Given the description of an element on the screen output the (x, y) to click on. 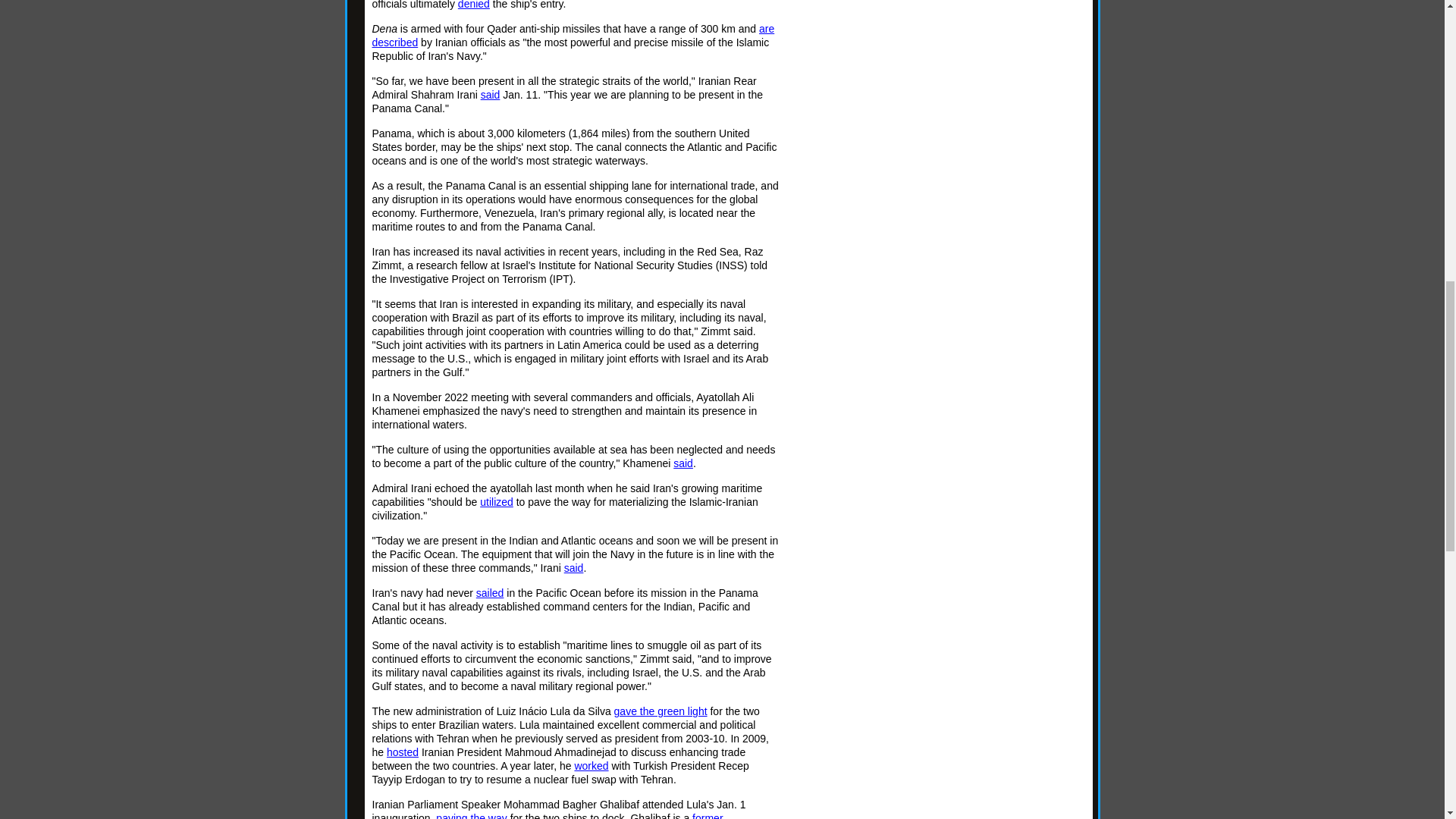
said (573, 567)
denied (473, 4)
utilized (496, 501)
are described (572, 35)
said (490, 94)
gave the green light (660, 711)
hosted (403, 752)
sailed (489, 592)
said (682, 463)
